Given the description of an element on the screen output the (x, y) to click on. 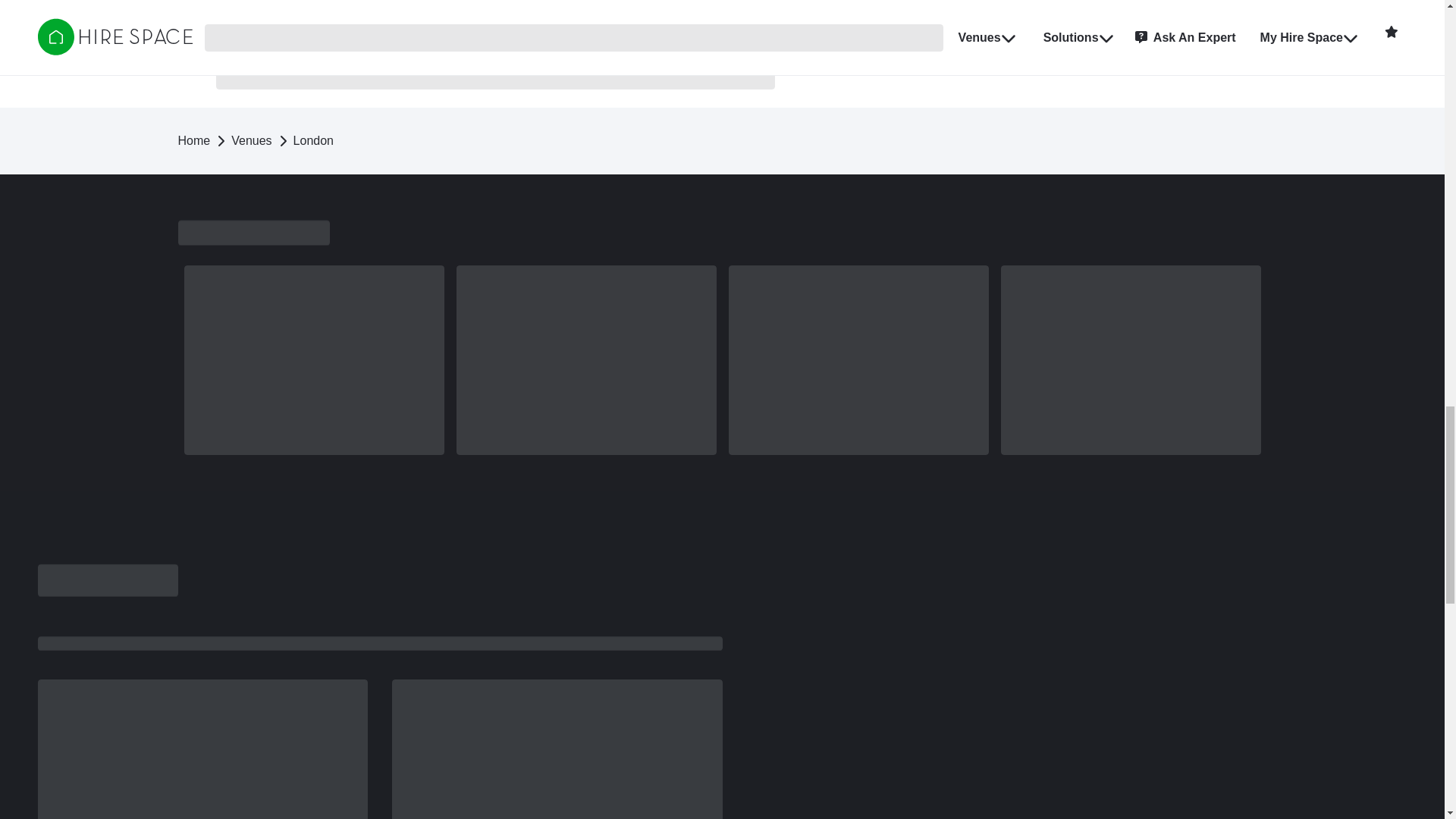
Venues (250, 140)
London (313, 140)
Home (193, 140)
